Given the description of an element on the screen output the (x, y) to click on. 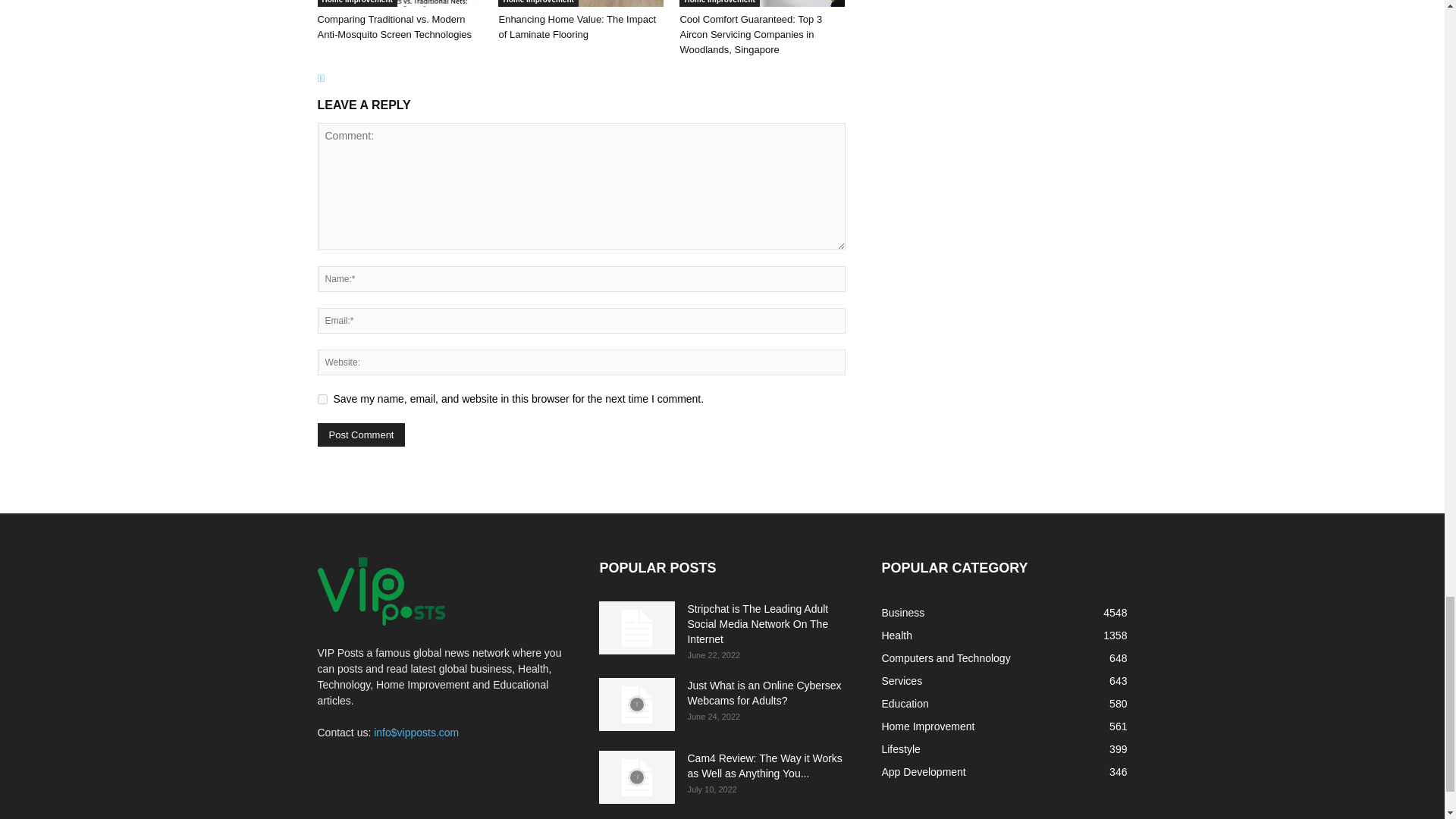
Post Comment (360, 434)
yes (321, 398)
